Given the description of an element on the screen output the (x, y) to click on. 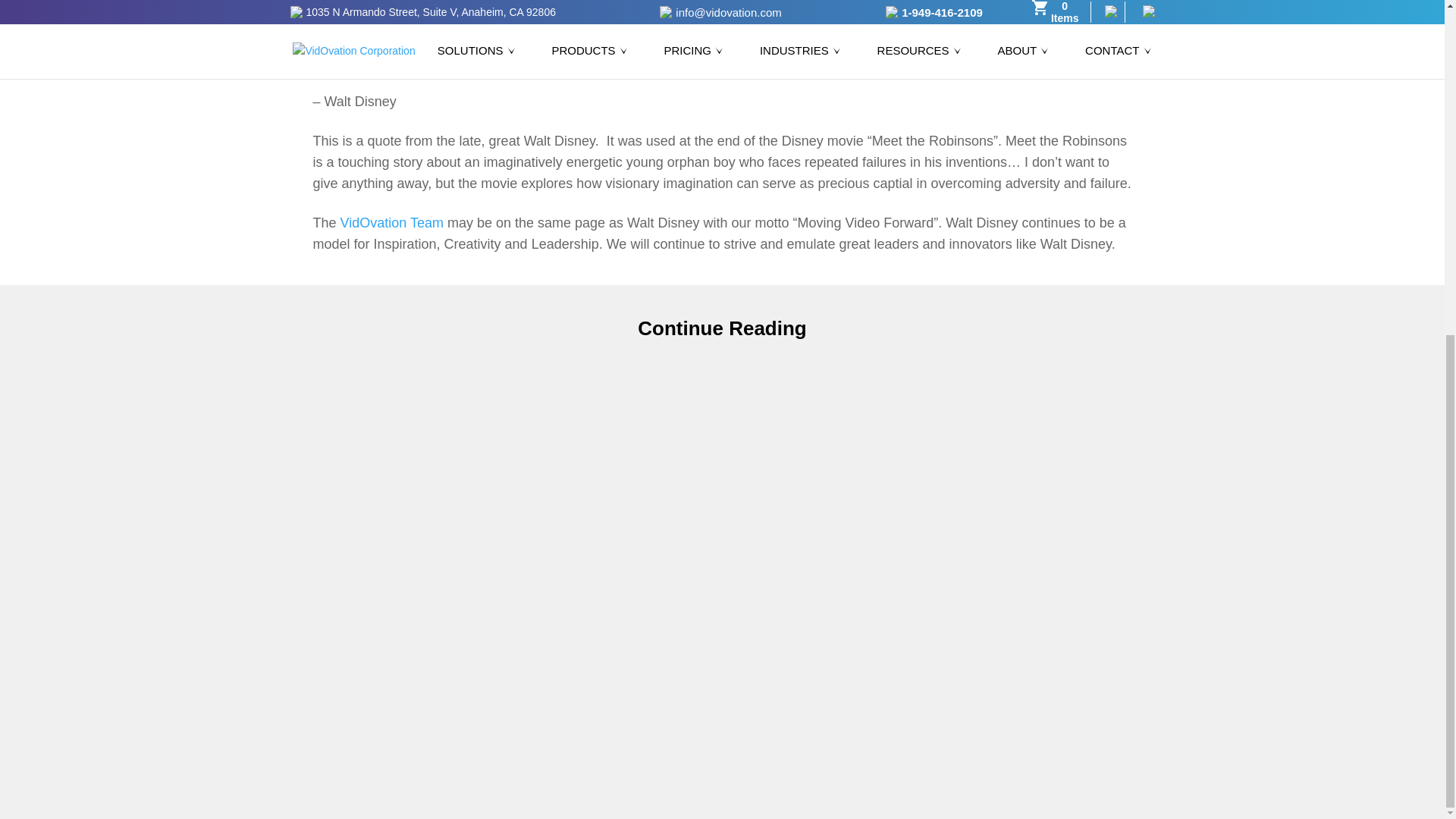
VidOvation Moving Video Forward (392, 222)
